Given the description of an element on the screen output the (x, y) to click on. 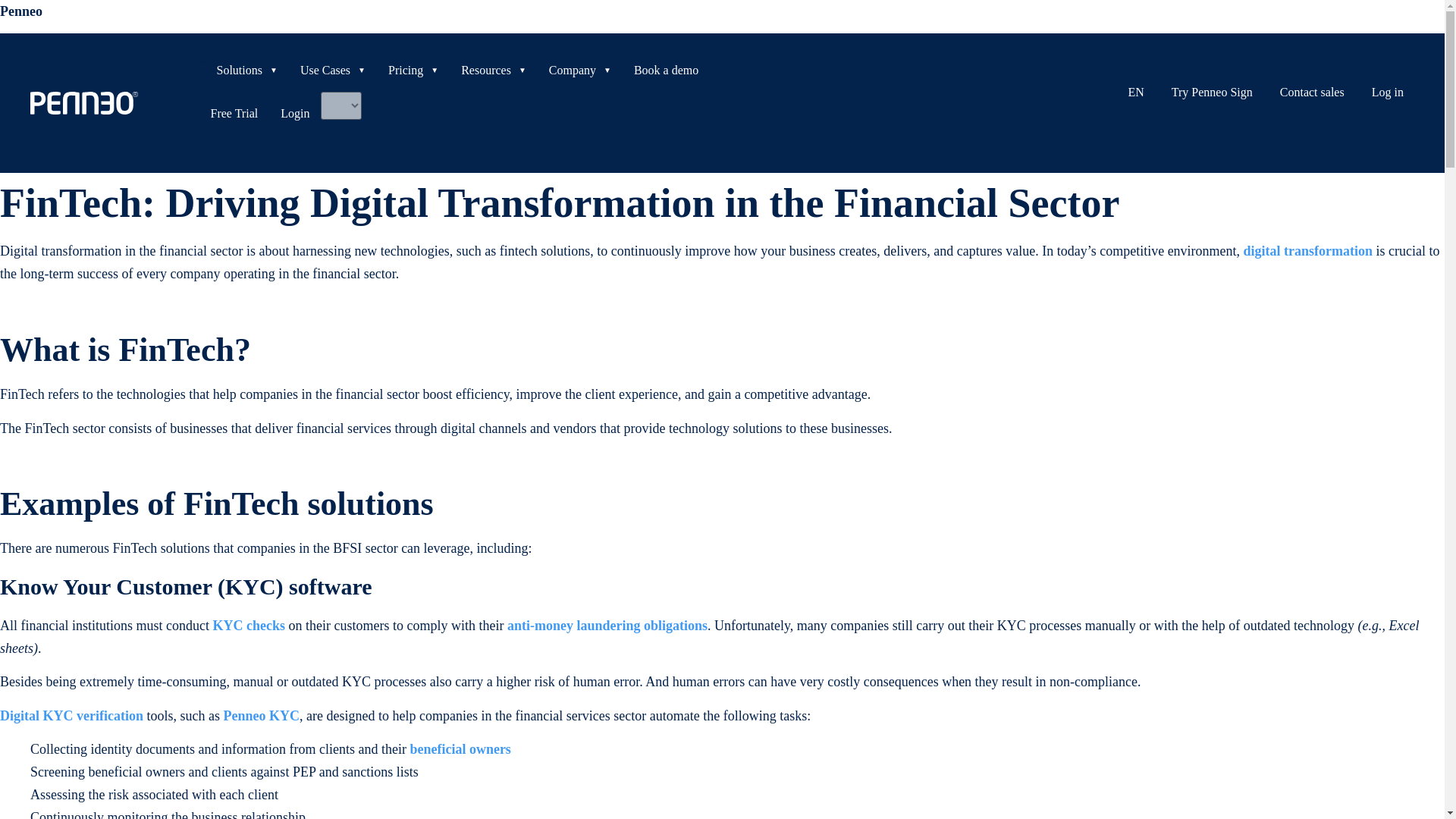
Penneo (21, 11)
Book a demo (666, 69)
Pricing (413, 69)
Free Trial (233, 113)
Try Penneo Sign (1212, 92)
Penneo (21, 11)
Content (493, 69)
Login (294, 113)
Solutions (246, 69)
Use Cases (332, 69)
Company (580, 69)
Resources (493, 69)
